Given the description of an element on the screen output the (x, y) to click on. 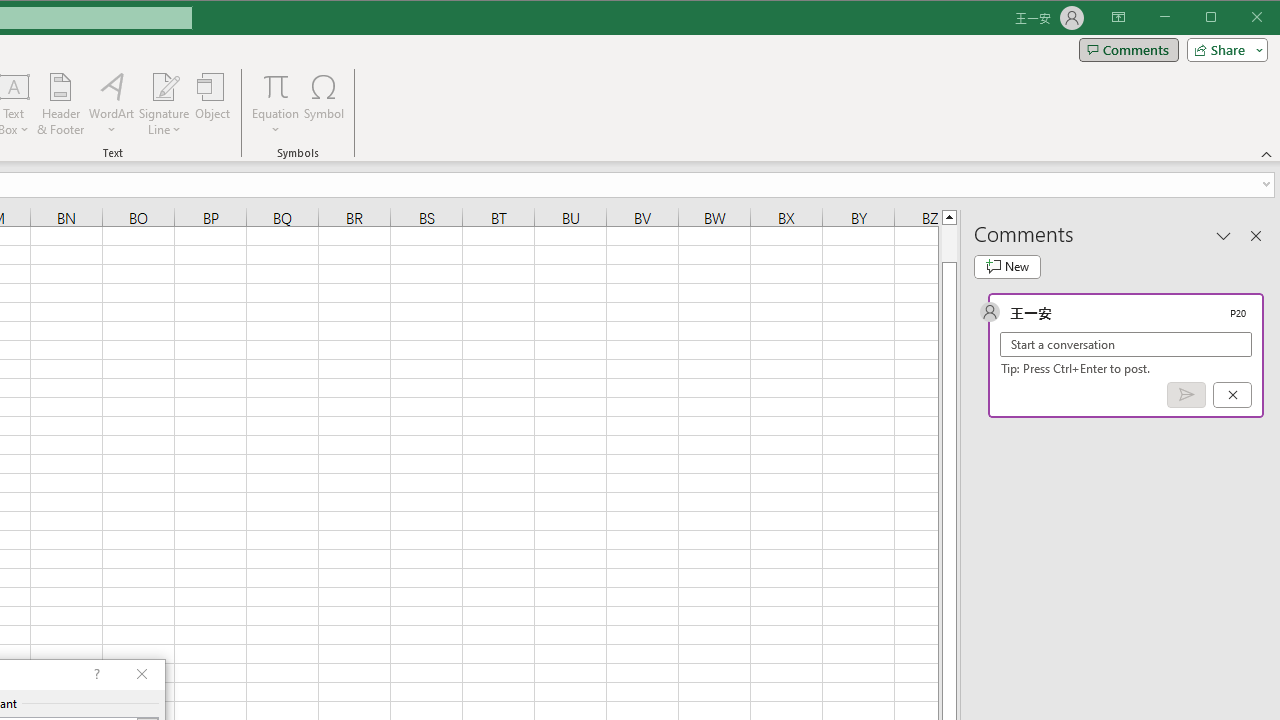
Object... (213, 104)
WordArt (111, 104)
New comment (1007, 266)
